Given the description of an element on the screen output the (x, y) to click on. 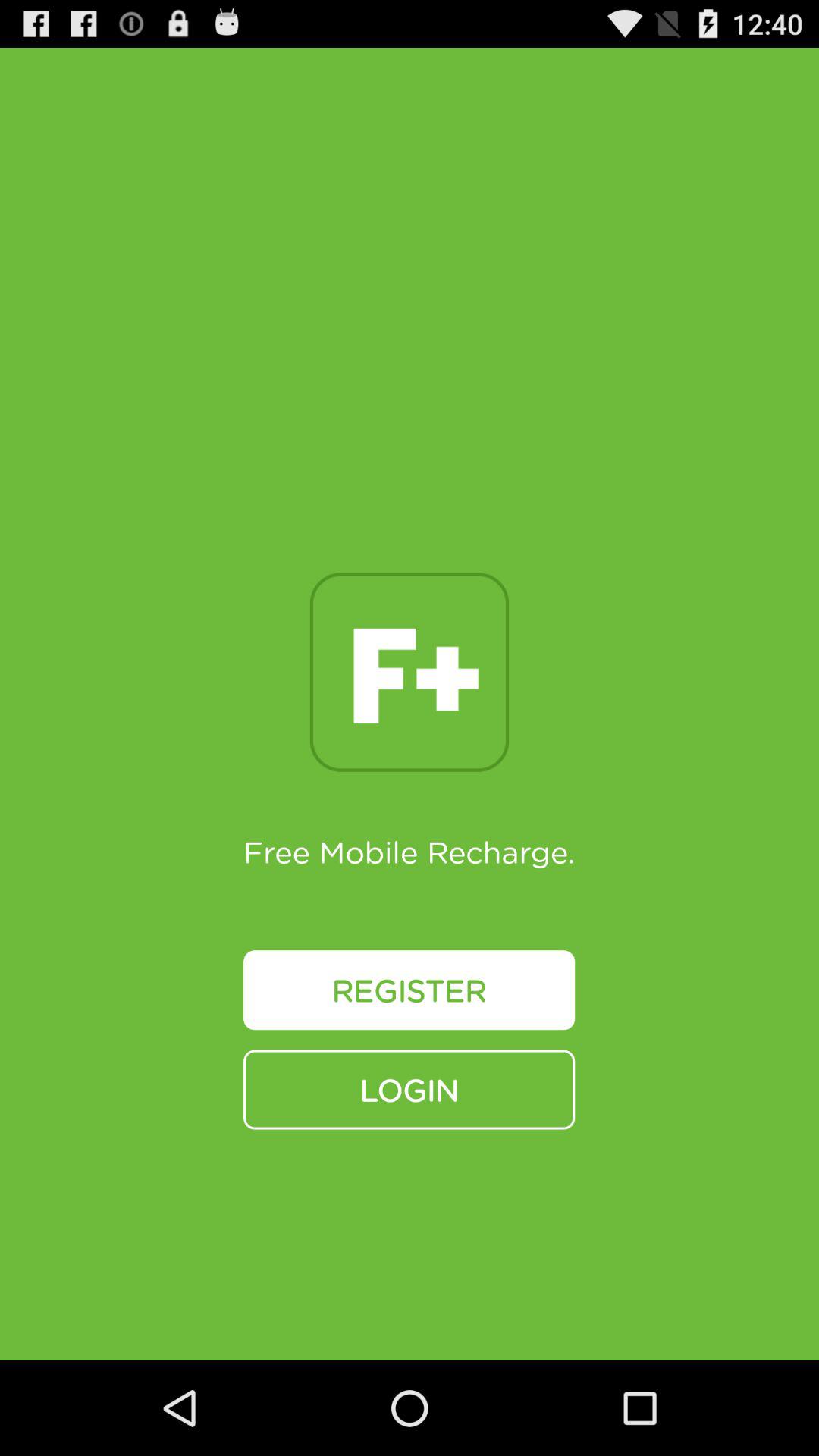
select register button (409, 990)
